Given the description of an element on the screen output the (x, y) to click on. 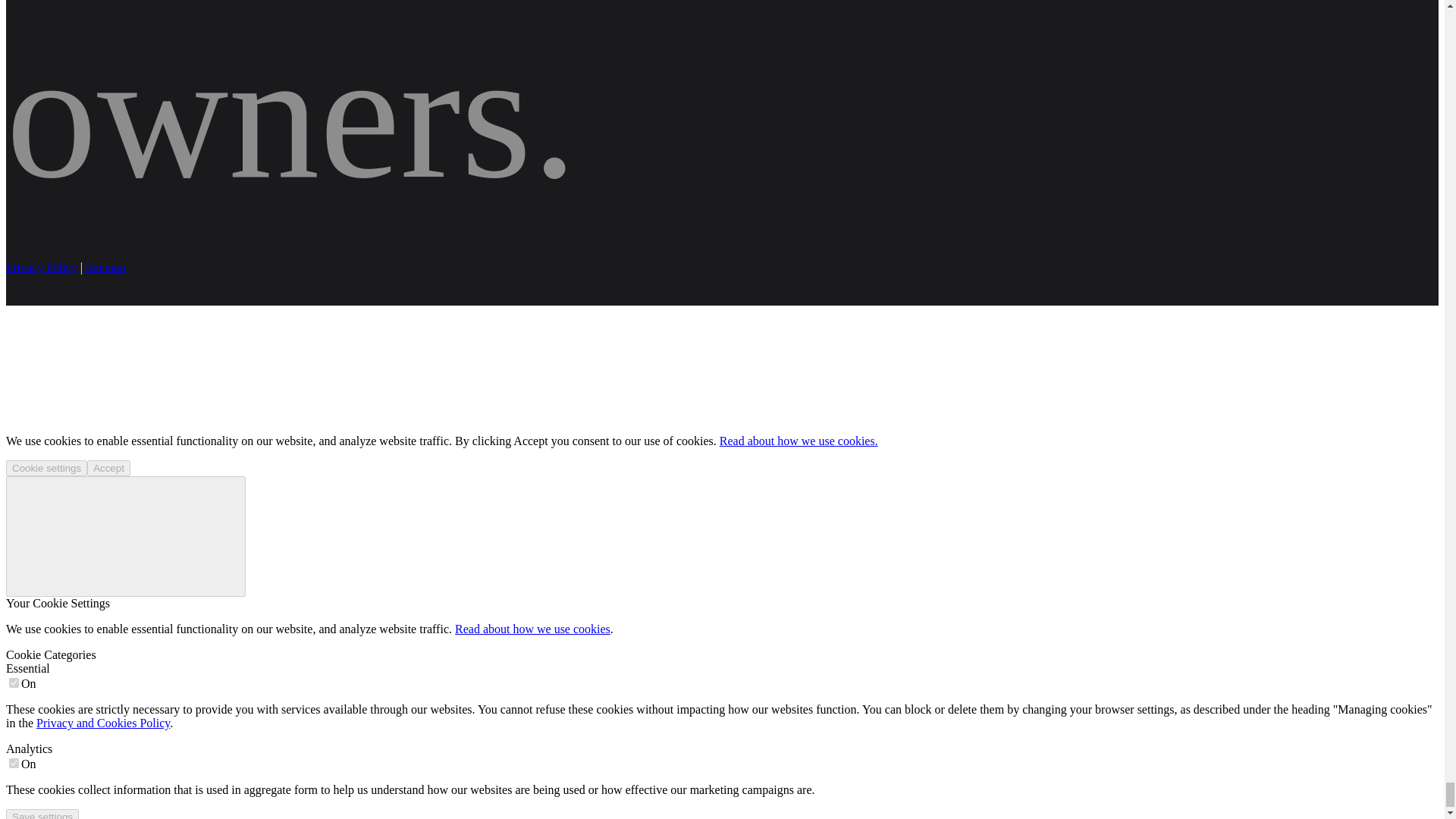
Cookie settings (46, 467)
on (13, 763)
Read about how we use cookies. (798, 440)
on (13, 682)
Privacy Policy (41, 267)
Read about how we use cookies (532, 628)
Privacy and Cookies Policy (103, 722)
Accept (109, 467)
Sitemap (105, 267)
